Given the description of an element on the screen output the (x, y) to click on. 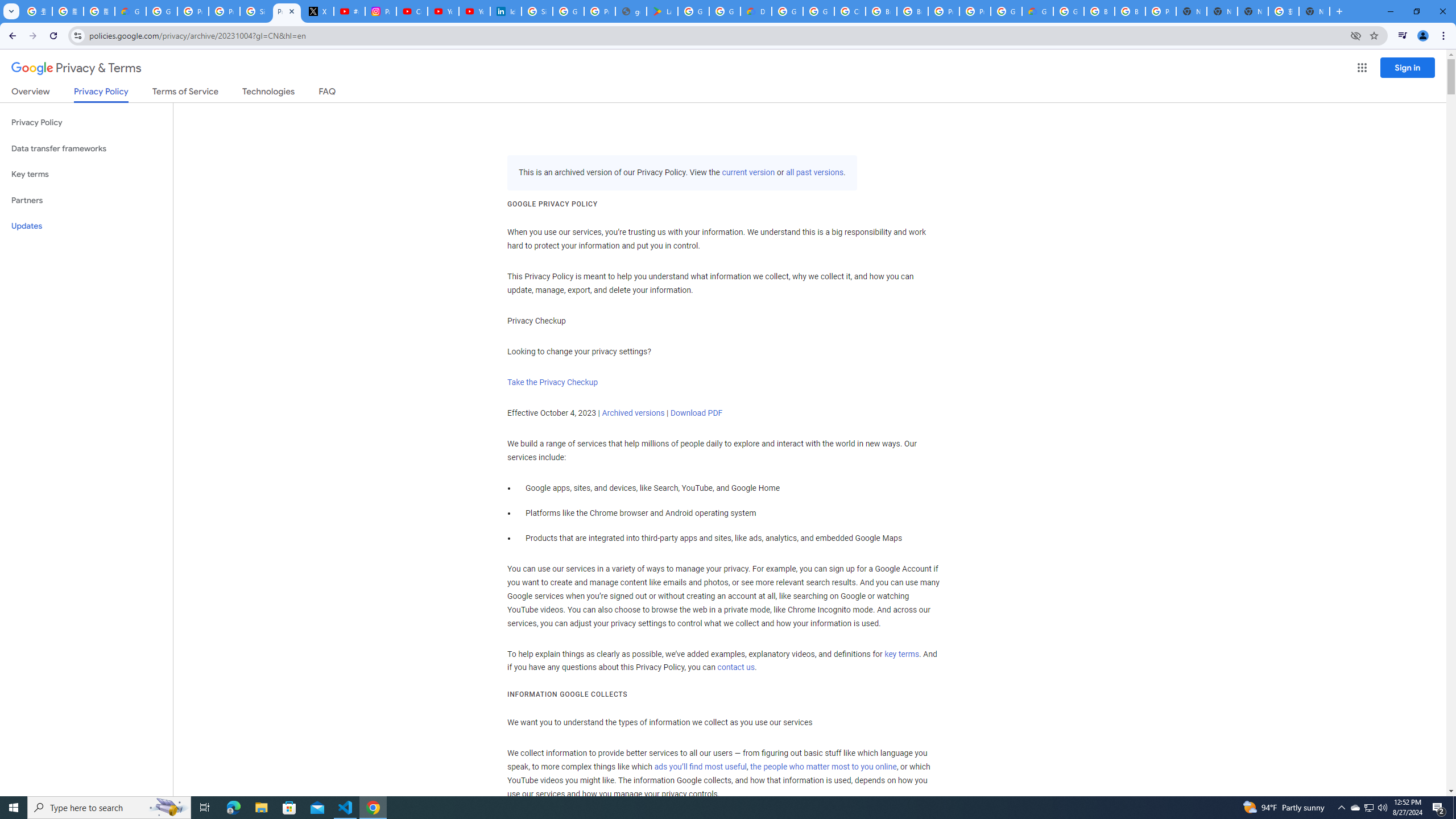
Sign in - Google Accounts (255, 11)
New Tab (1314, 11)
